Given the description of an element on the screen output the (x, y) to click on. 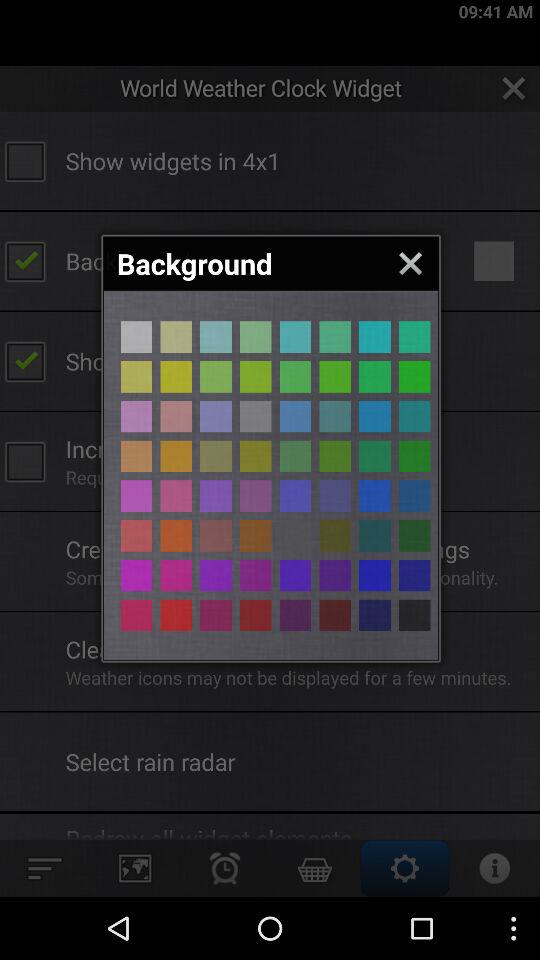
the button is used to advertisement option (255, 336)
